Given the description of an element on the screen output the (x, y) to click on. 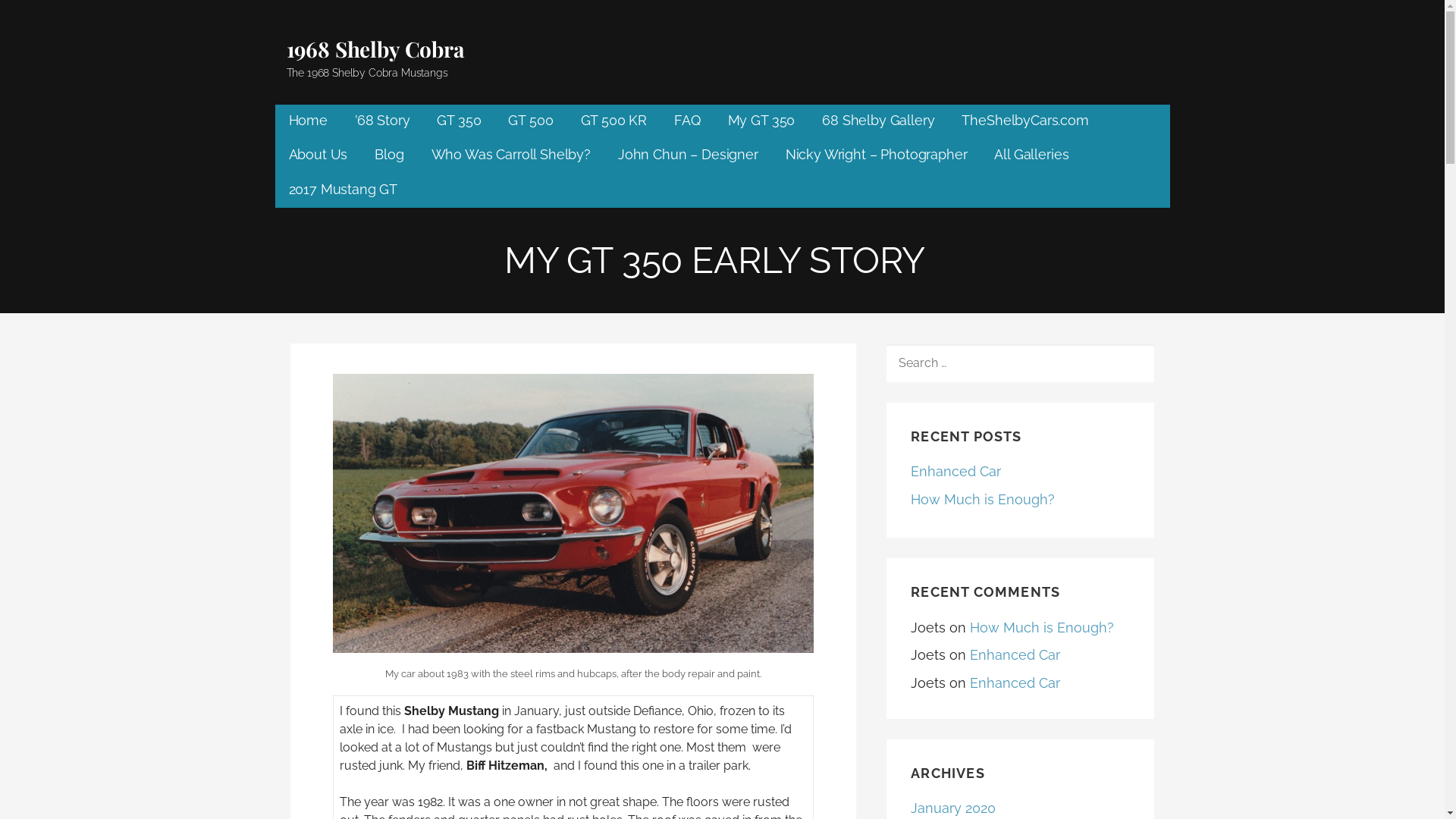
Enhanced Car Element type: text (955, 471)
GT 500 Element type: text (530, 121)
How Much is Enough? Element type: text (1041, 627)
GT 500 KR Element type: text (613, 121)
My GT 350 Element type: text (761, 121)
1968 Shelby Cobra Element type: text (375, 48)
68 Shelby Gallery Element type: text (878, 121)
FAQ Element type: text (687, 121)
TheShelbyCars.com Element type: text (1024, 121)
2017 Mustang GT Element type: text (342, 189)
About Us Element type: text (317, 155)
Enhanced Car Element type: text (1014, 682)
Search Element type: text (46, 17)
January 2020 Element type: text (952, 807)
Who Was Carroll Shelby? Element type: text (510, 155)
How Much is Enough? Element type: text (982, 499)
GT 350 Element type: text (458, 121)
Enhanced Car Element type: text (1014, 654)
All Galleries Element type: text (1031, 155)
Blog Element type: text (388, 155)
Home Element type: text (307, 121)
